Given the description of an element on the screen output the (x, y) to click on. 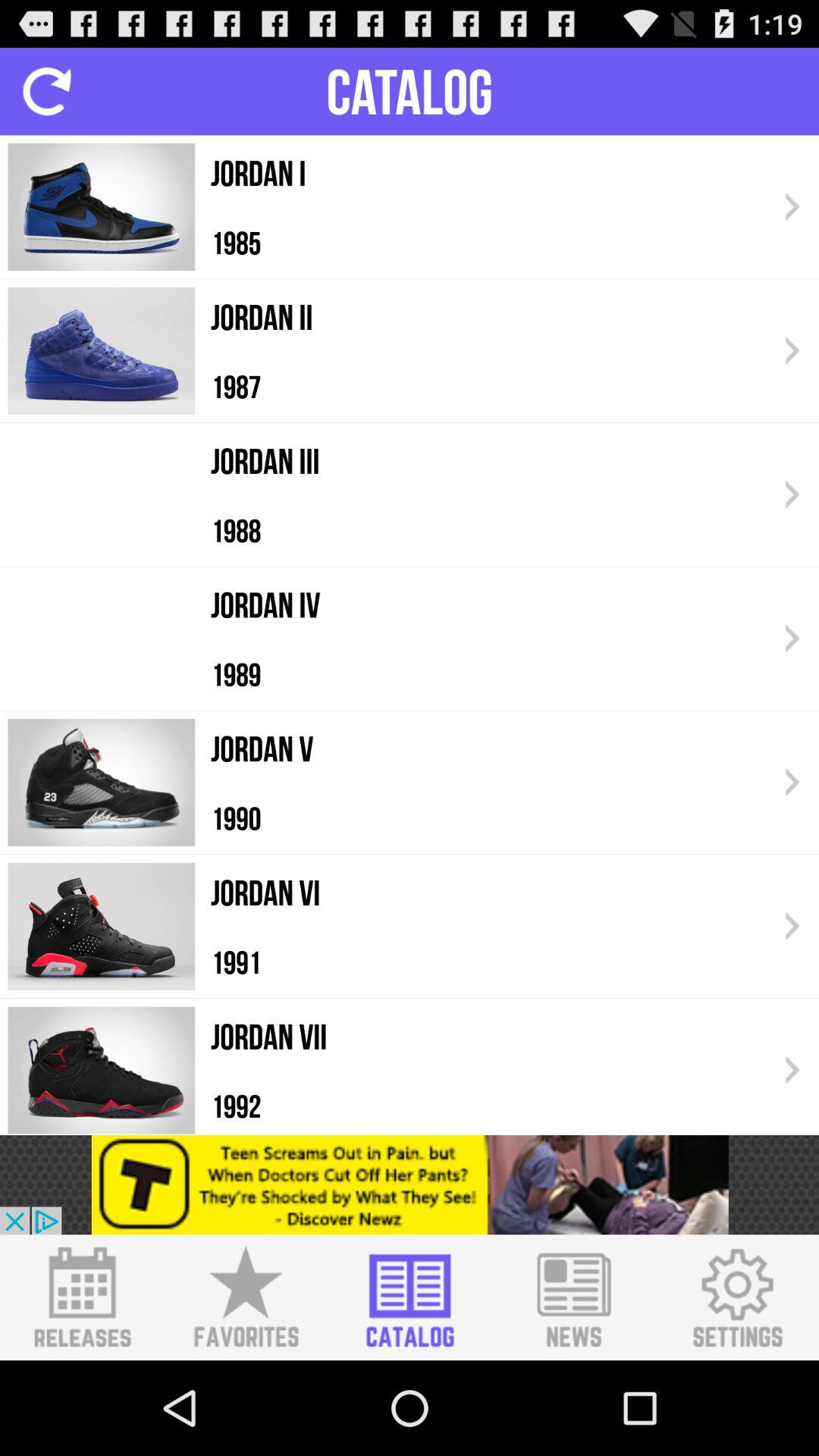
view catalog (409, 1297)
